Given the description of an element on the screen output the (x, y) to click on. 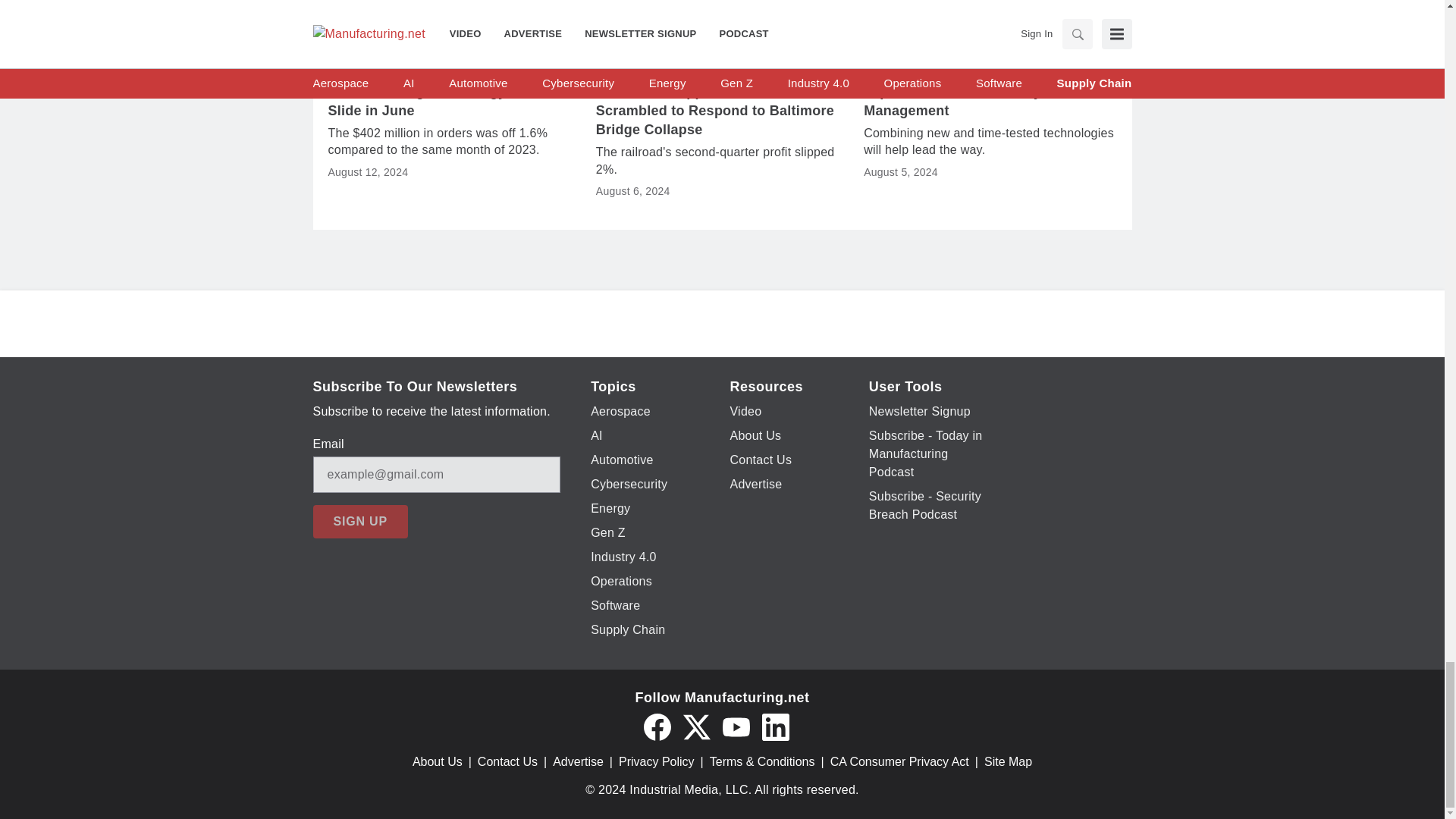
LinkedIn icon (775, 727)
Facebook icon (656, 727)
YouTube icon (735, 727)
Twitter X icon (696, 727)
